Given the description of an element on the screen output the (x, y) to click on. 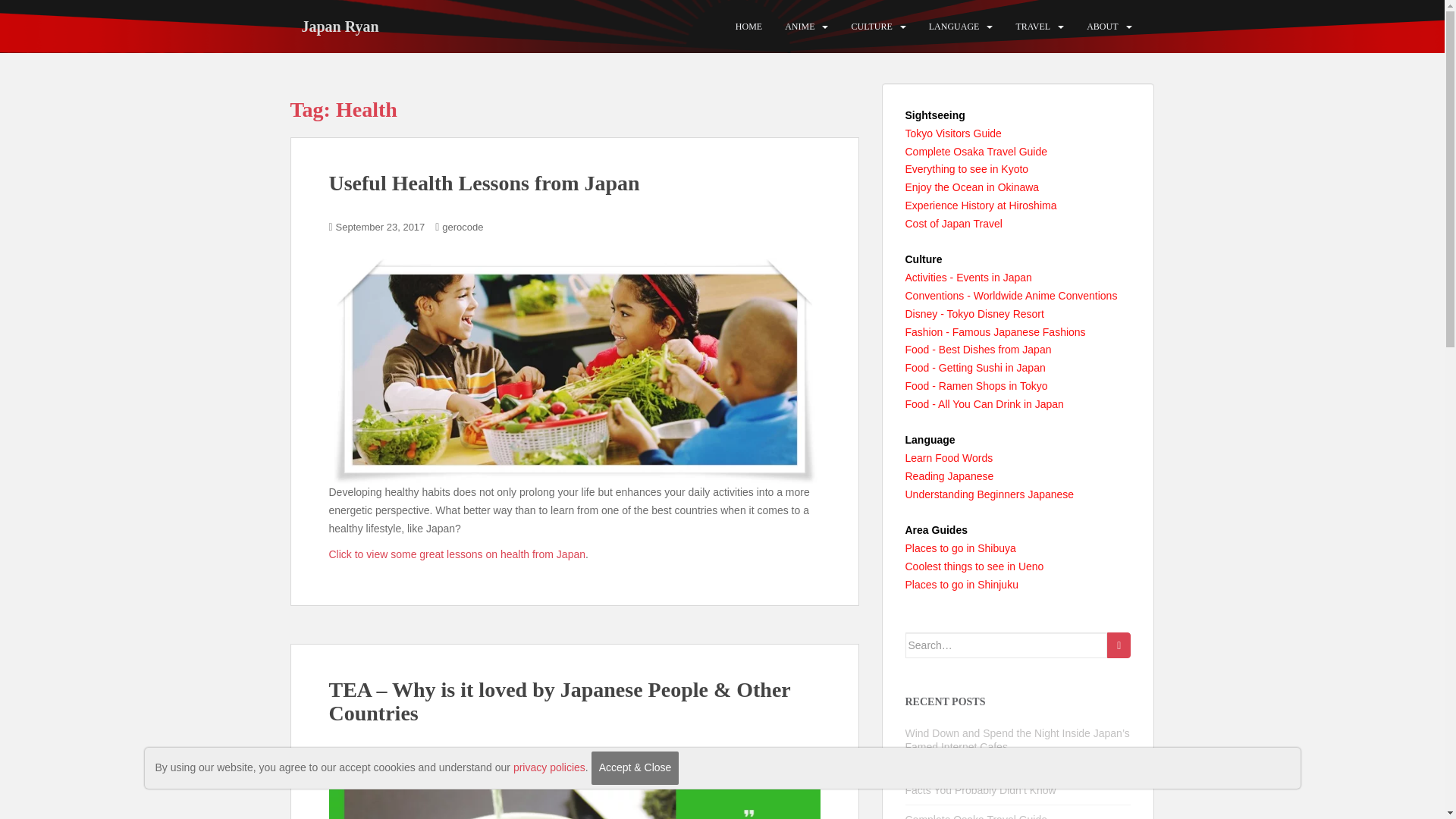
LANGUAGE (953, 26)
CULTURE (870, 26)
Japan Ryan (339, 26)
ANIME (798, 26)
TRAVEL (1031, 26)
Japan Ryan (339, 26)
Search for: (1006, 645)
